Given the description of an element on the screen output the (x, y) to click on. 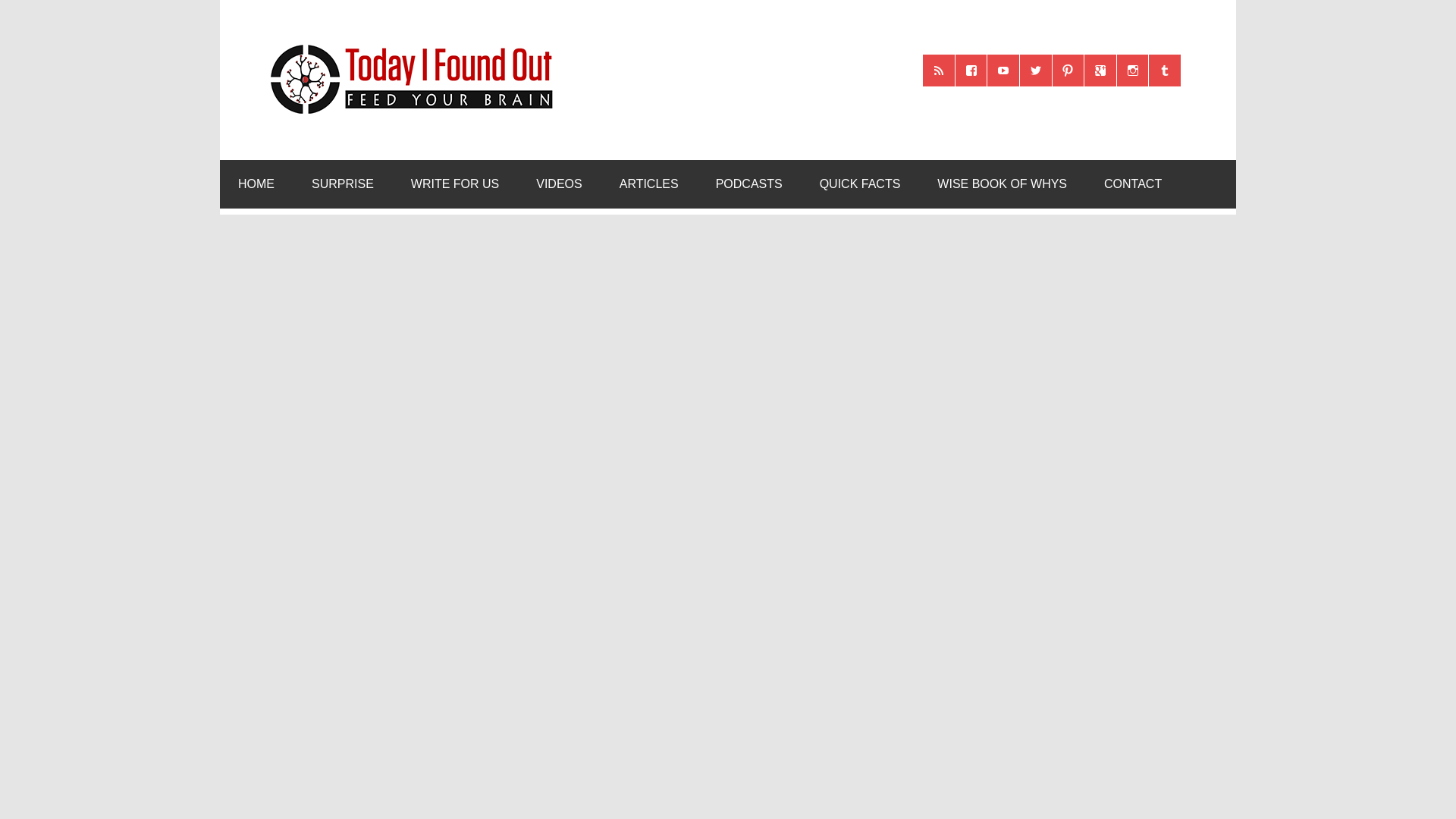
ARTICLES (649, 183)
Today I Found Out (405, 42)
Interesting Facts (860, 183)
CONTACT (1132, 183)
SURPRISE (342, 183)
VIDEOS (558, 183)
QUICK FACTS (860, 183)
WRITE FOR US (454, 183)
WISE BOOK OF WHYS (1001, 183)
PODCASTS (748, 183)
